Given the description of an element on the screen output the (x, y) to click on. 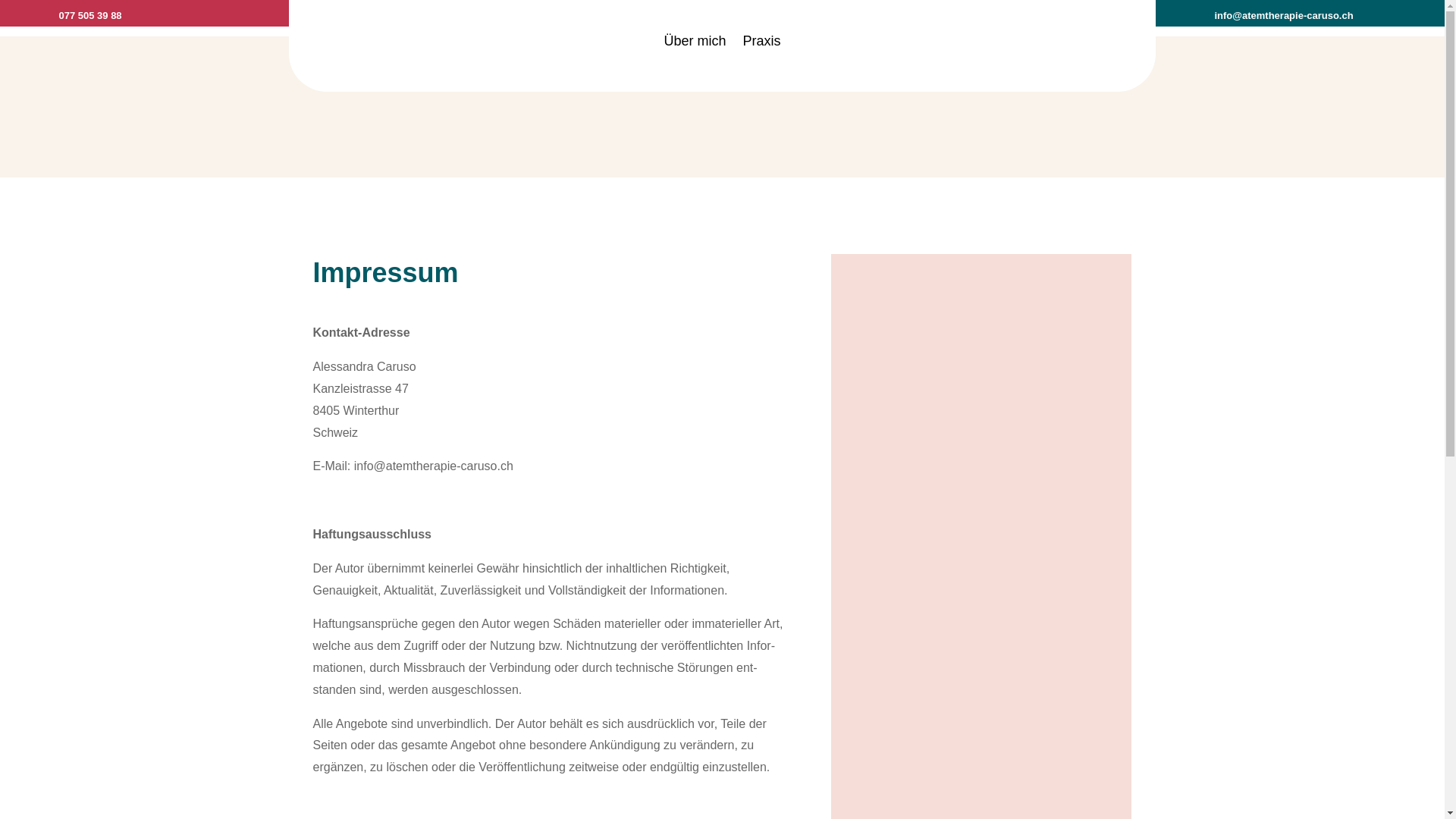
Praxis Element type: text (762, 41)
info@atemtherapie-caruso.ch Element type: text (1283, 15)
